Given the description of an element on the screen output the (x, y) to click on. 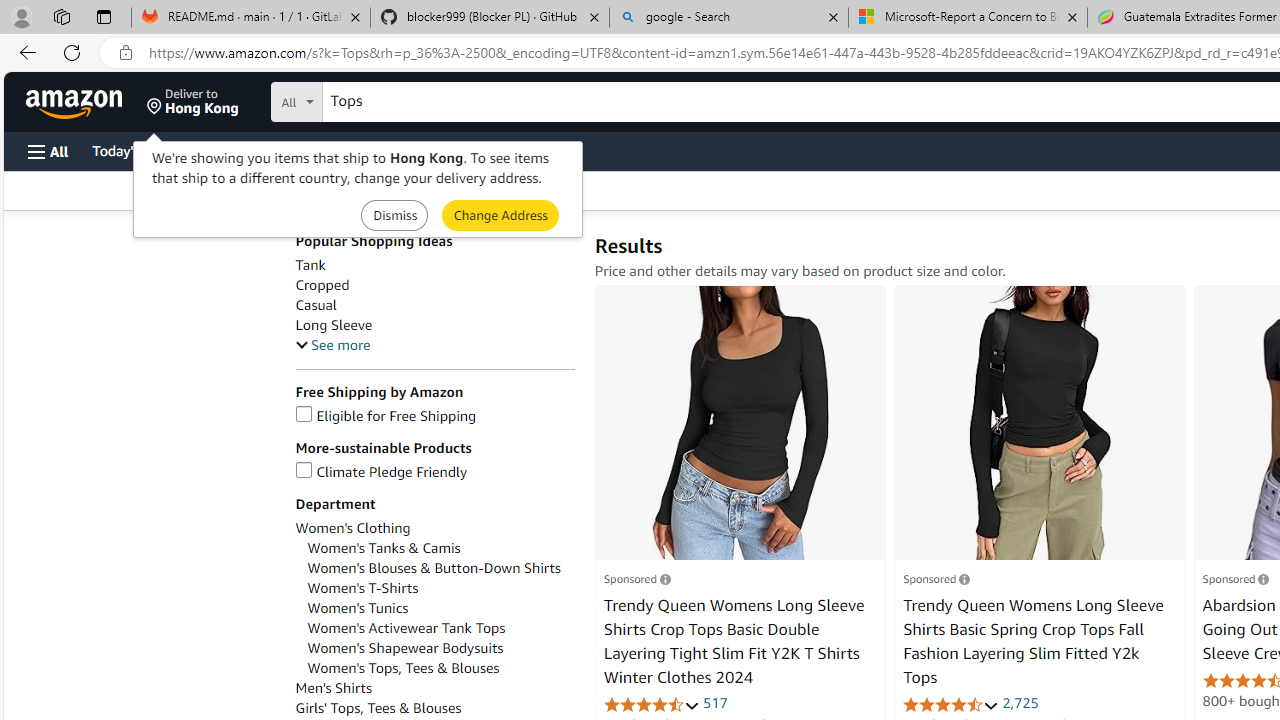
Women's Activewear Tank Tops (440, 628)
Women's T-Shirts (362, 588)
Girls' Tops, Tees & Blouses (378, 708)
Women's Tunics (440, 608)
Long Sleeve (333, 325)
Casual (434, 304)
